Given the description of an element on the screen output the (x, y) to click on. 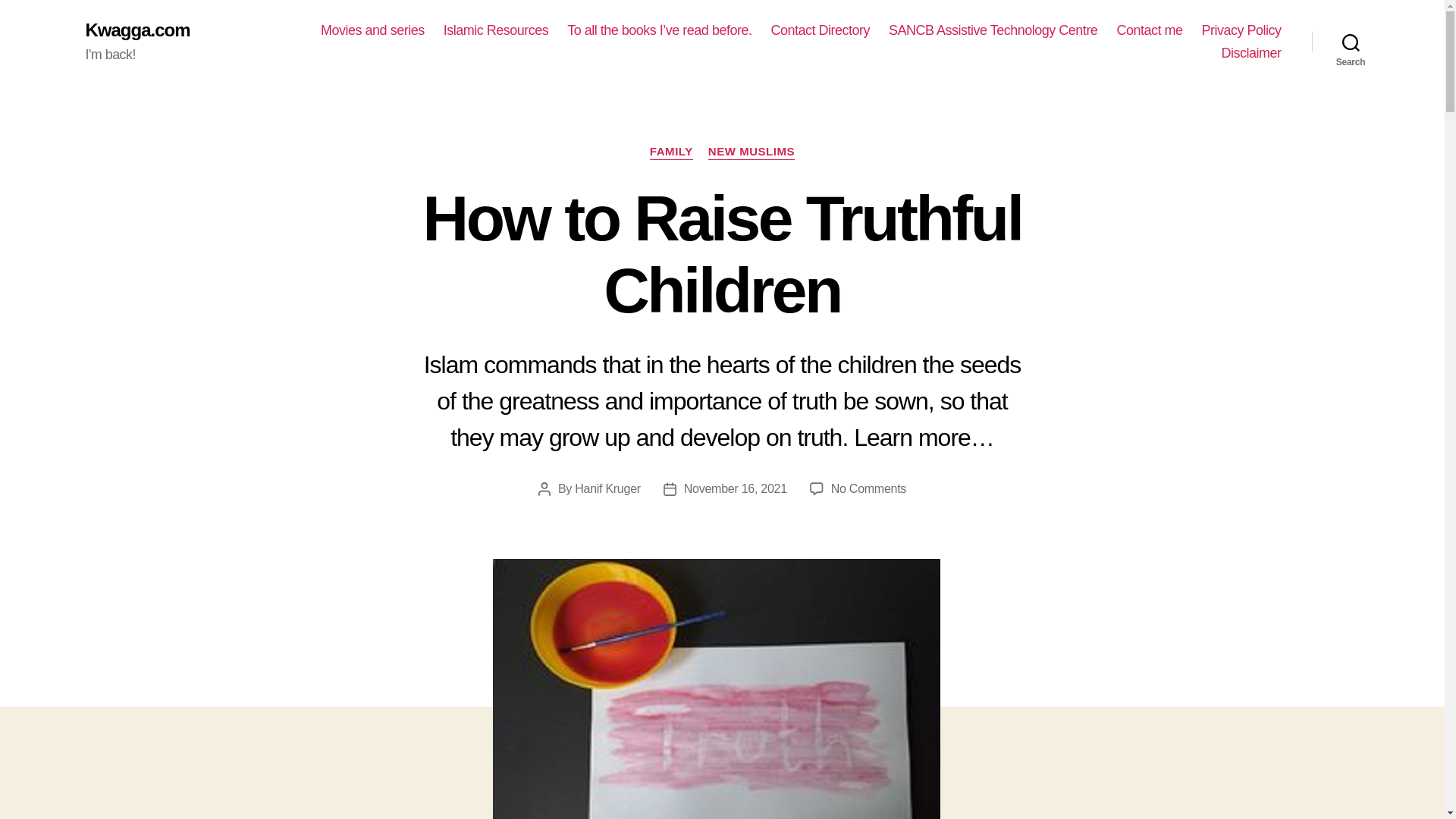
Movies and series (372, 30)
Hanif Kruger (607, 488)
SANCB Assistive Technology Centre (992, 30)
Kwagga.com (868, 488)
Contact me (136, 30)
Disclaimer (1149, 30)
Privacy Policy (1251, 53)
Contact Directory (1241, 30)
Islamic Resources (819, 30)
Search (496, 30)
November 16, 2021 (1350, 41)
FAMILY (735, 488)
NEW MUSLIMS (671, 151)
